Given the description of an element on the screen output the (x, y) to click on. 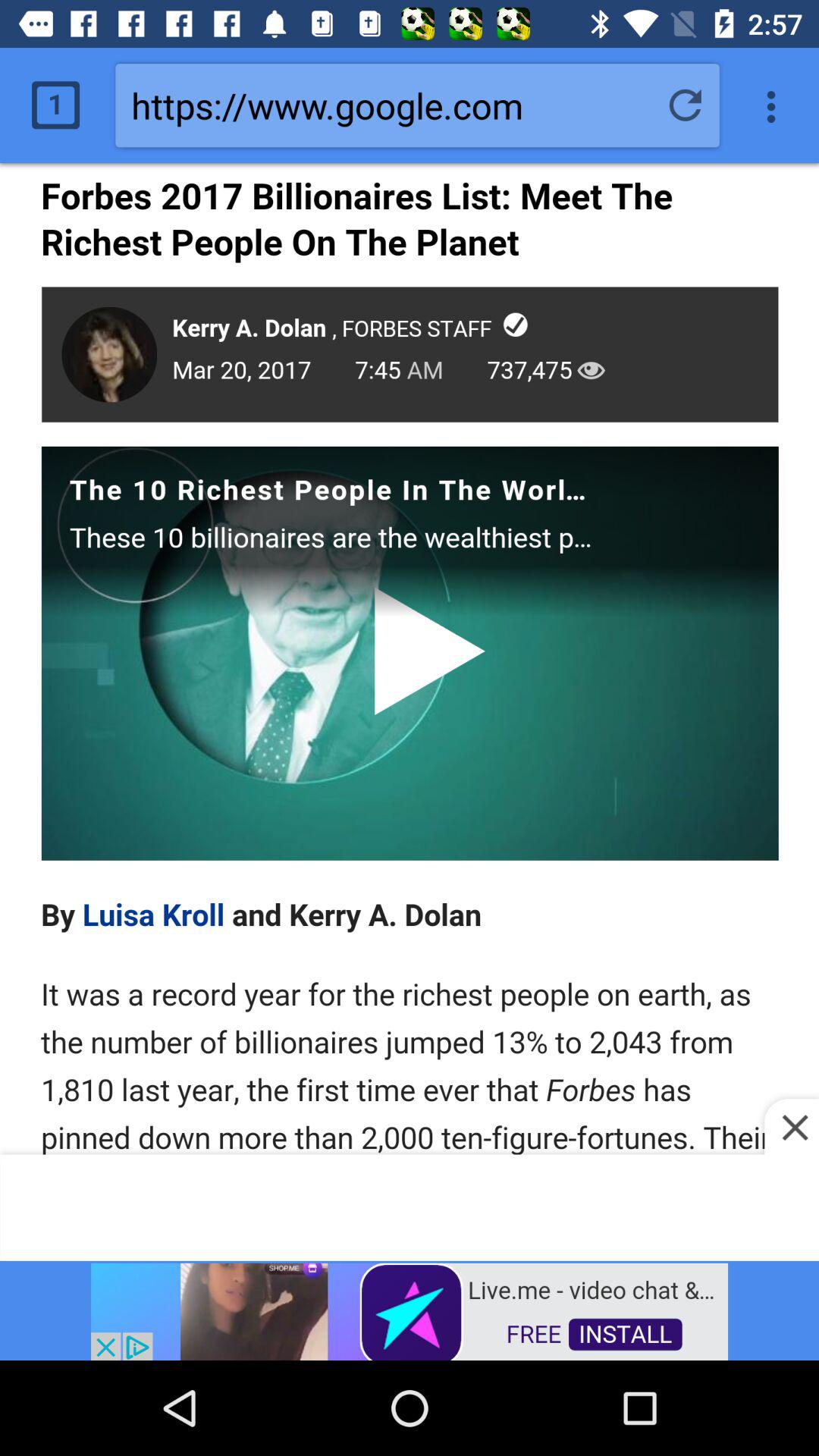
advertisement banner (409, 1310)
